Given the description of an element on the screen output the (x, y) to click on. 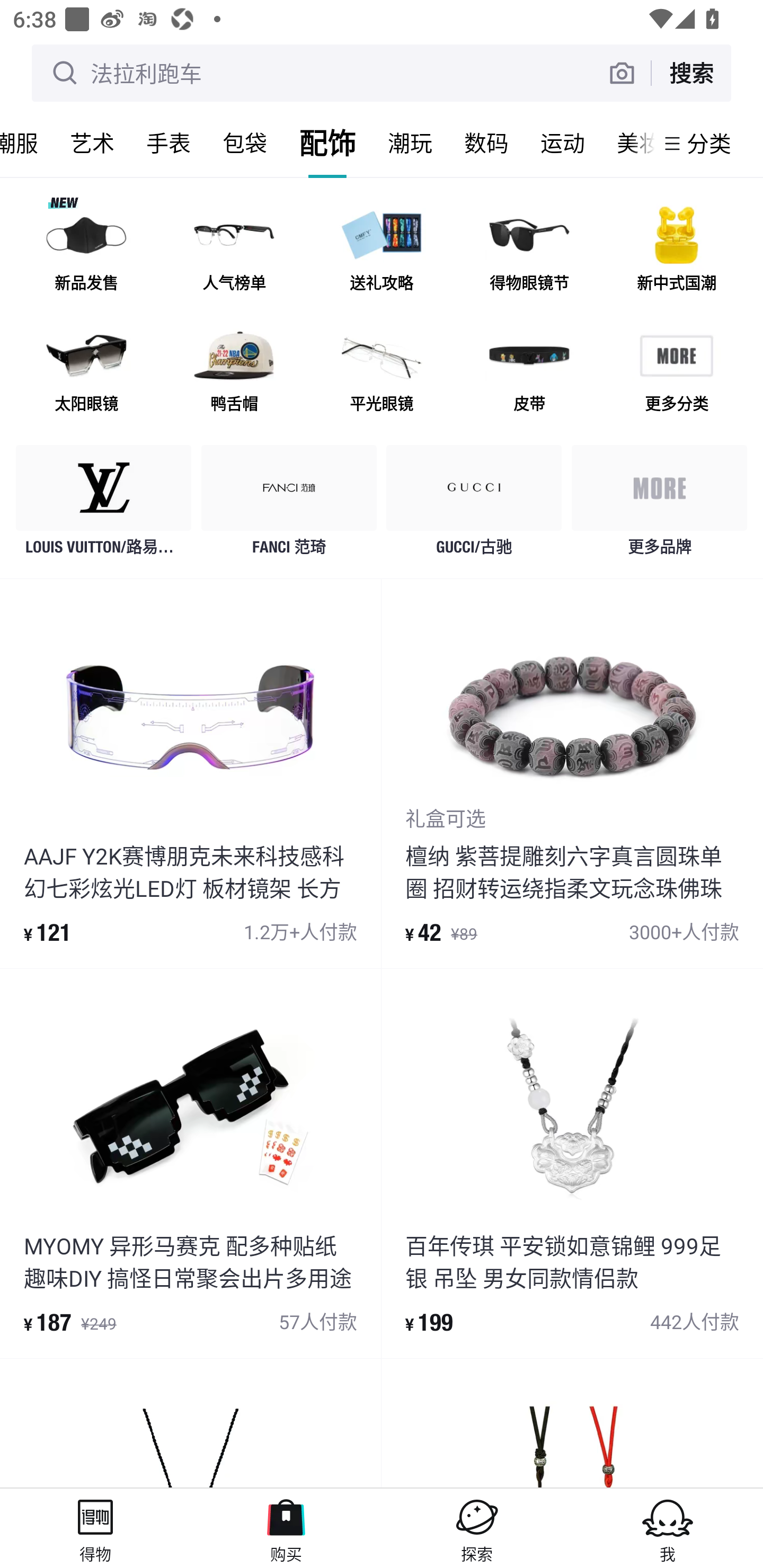
搜索 (690, 72)
潮服 (27, 143)
艺术 (92, 143)
手表 (168, 143)
包袋 (244, 143)
配饰 (327, 143)
潮玩 (410, 143)
数码 (486, 143)
运动 (562, 143)
美妆 (627, 143)
分类 (708, 143)
新品发售 (86, 251)
人气榜单 (233, 251)
送礼攻略 (381, 251)
得物眼镜节 (528, 251)
新中式国潮 (676, 251)
太阳眼镜 (86, 372)
鸭舌帽 (233, 372)
平光眼镜 (381, 372)
皮带 (528, 372)
更多分类 (676, 372)
LOUIS VUITTON/路易威登 (103, 505)
FANCI 范琦 (288, 505)
GUCCI/古驰 (473, 505)
更多品牌 (658, 505)
得物 (95, 1528)
购买 (285, 1528)
探索 (476, 1528)
我 (667, 1528)
